Given the description of an element on the screen output the (x, y) to click on. 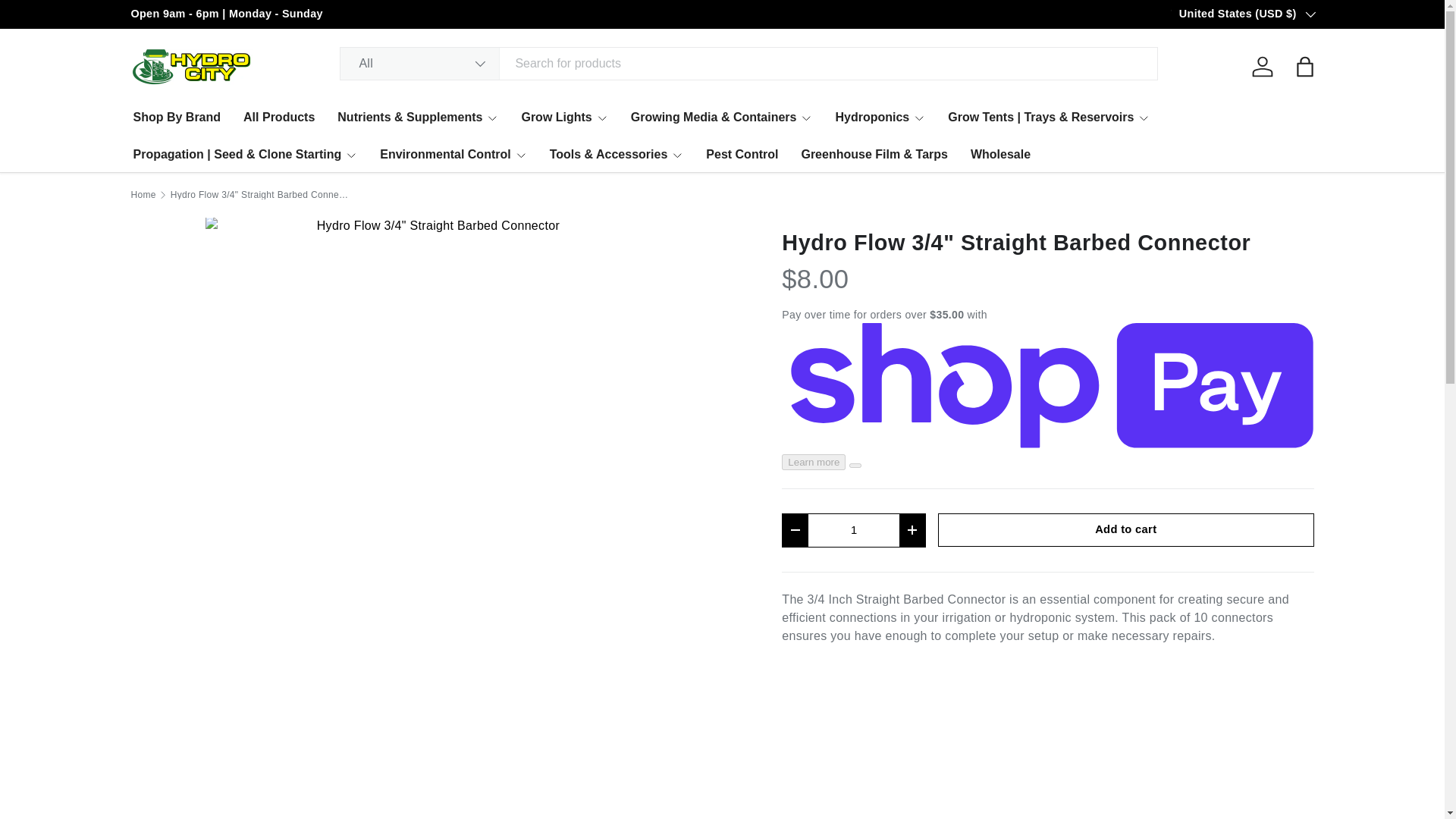
1 (853, 530)
Shop By Brand (177, 116)
Bag (1303, 66)
All Products (278, 116)
All (419, 63)
Skip to content (64, 21)
Grow Lights (564, 116)
Log in (1261, 66)
